Given the description of an element on the screen output the (x, y) to click on. 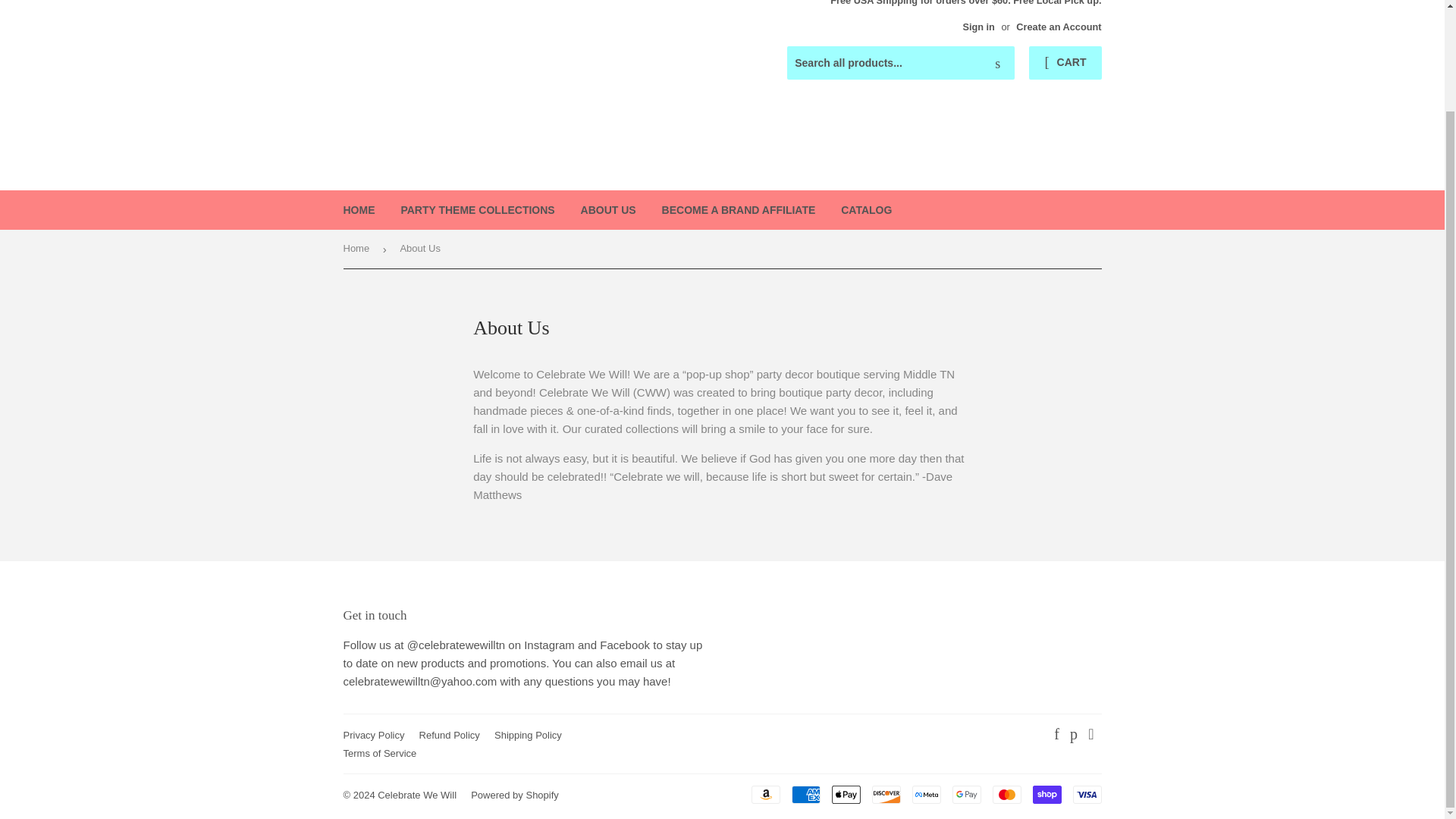
Create an Account (1058, 26)
CATALOG (865, 210)
Mastercard (1005, 794)
Shipping Policy (528, 735)
PARTY THEME COLLECTIONS (477, 210)
Privacy Policy (373, 735)
Refund Policy (449, 735)
Google Pay (966, 794)
ABOUT US (608, 210)
CART (1064, 62)
American Express (806, 794)
Terms of Service (379, 753)
Discover (886, 794)
Shop Pay (1046, 794)
Powered by Shopify (514, 794)
